Given the description of an element on the screen output the (x, y) to click on. 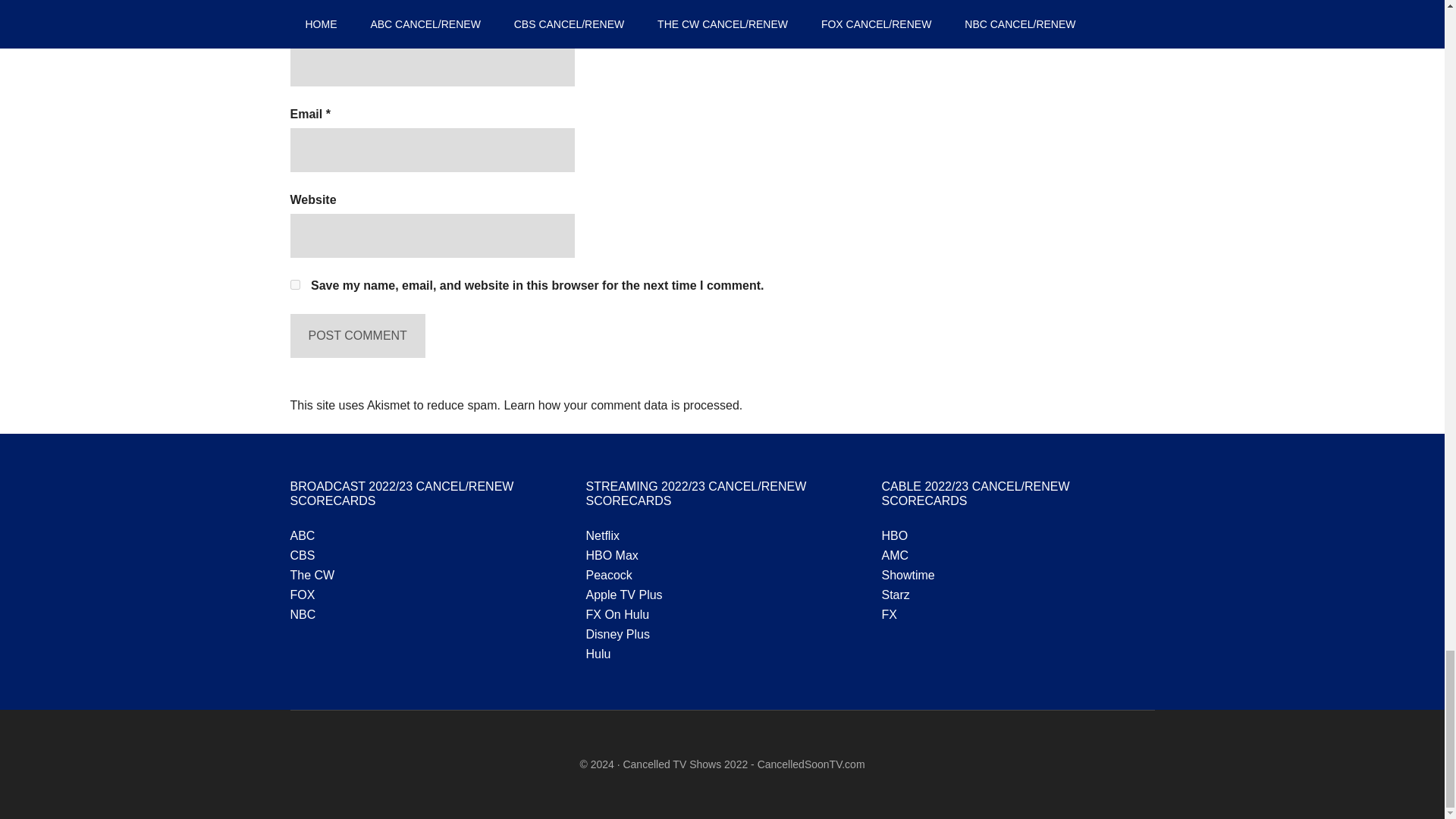
Post Comment (357, 335)
Learn how your comment data is processed (620, 404)
yes (294, 284)
Post Comment (357, 335)
